Given the description of an element on the screen output the (x, y) to click on. 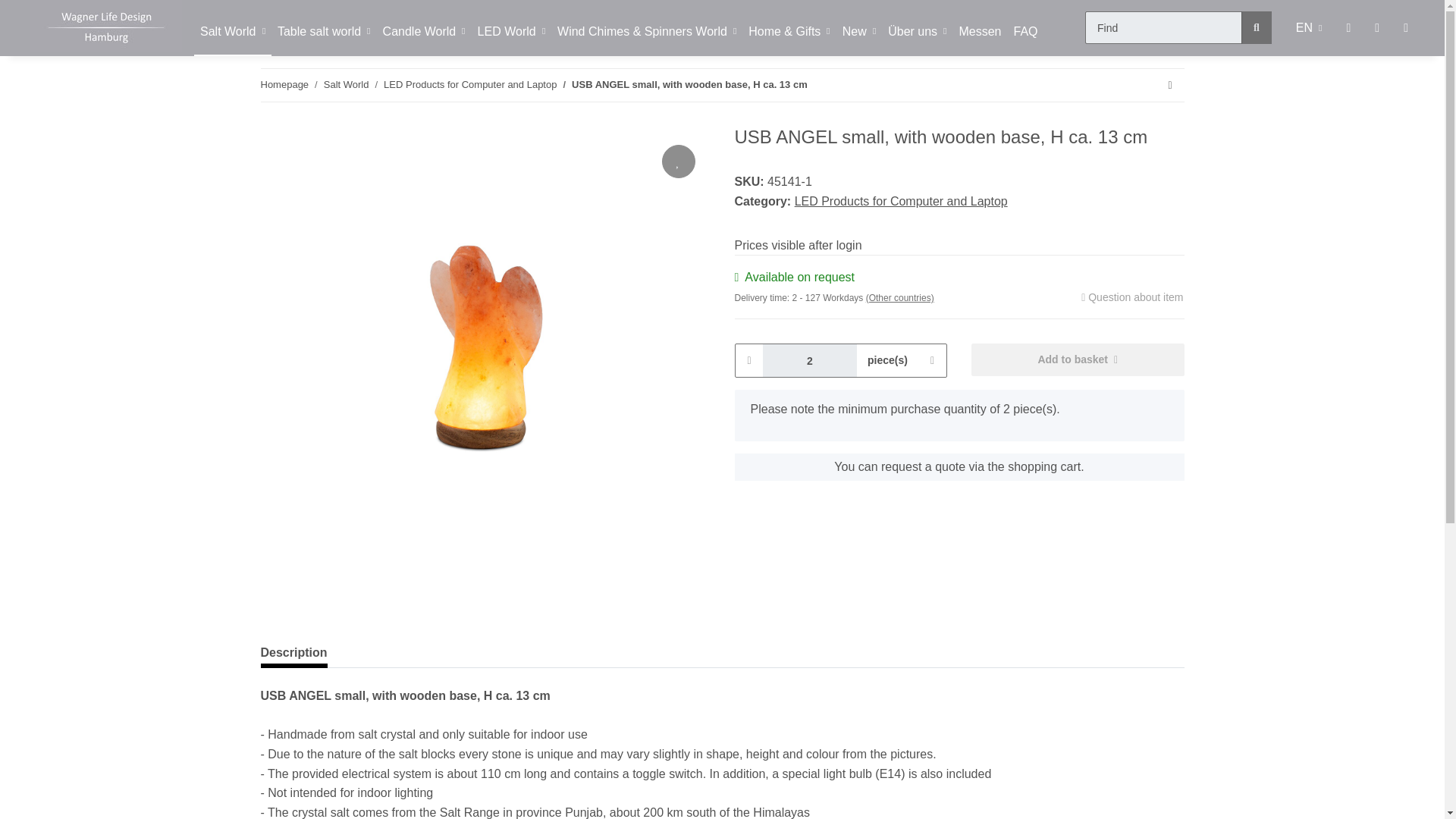
Table salt world (323, 31)
Candle World (424, 31)
Homepage (284, 84)
Salt World (231, 31)
Salt World (231, 31)
LED World (511, 31)
Candle World (424, 31)
Salt World (231, 31)
Salt World (346, 84)
Messen (979, 31)
